Given the description of an element on the screen output the (x, y) to click on. 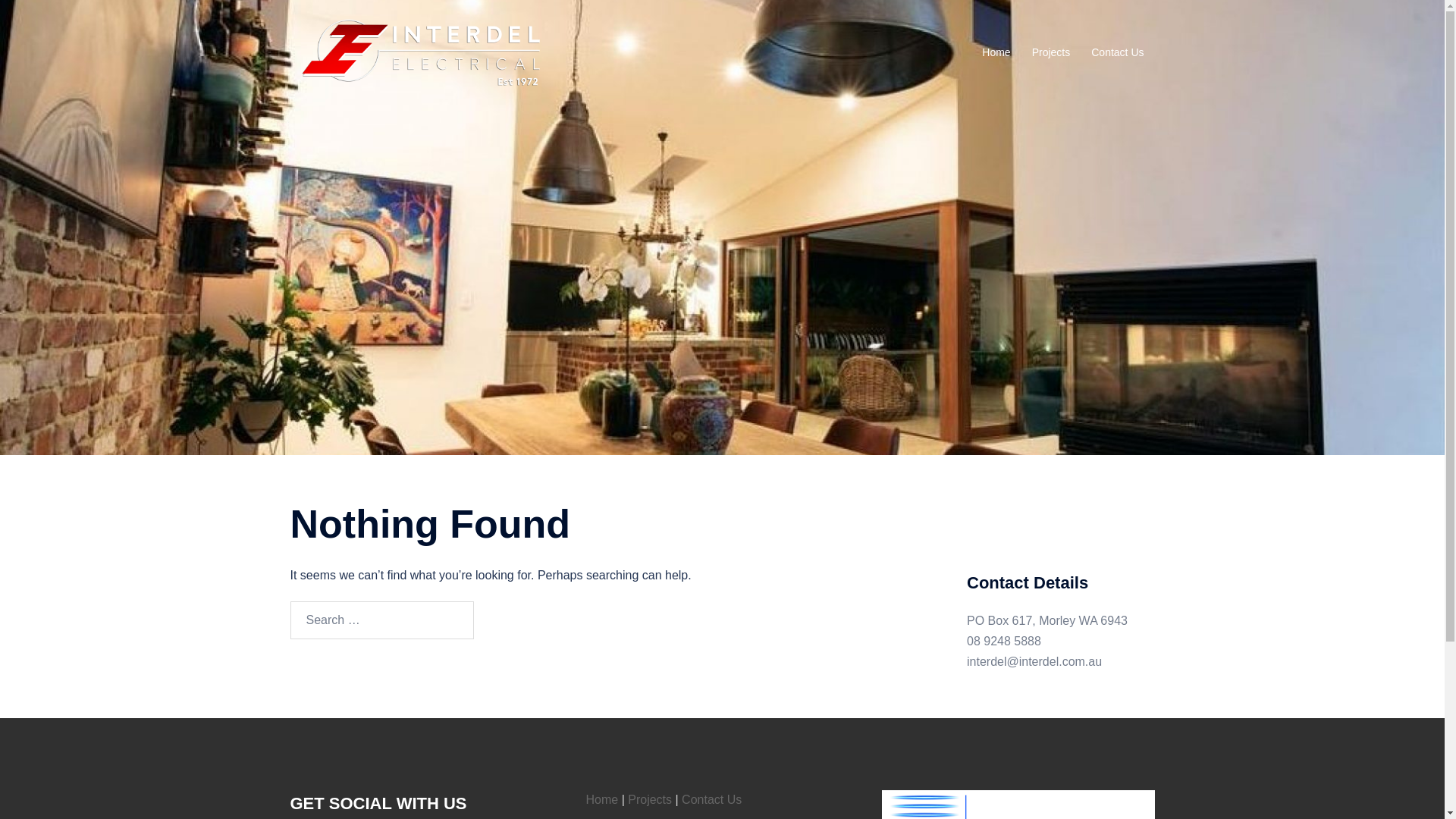
interdel@interdel.com.au Element type: text (1033, 661)
Search Element type: text (525, 620)
Projects Element type: text (649, 799)
Home Element type: text (601, 799)
PO Box 617, Morley WA 6943 Element type: text (1046, 620)
Home Element type: text (996, 52)
Contact Us Element type: text (711, 799)
Contact Us Element type: text (1117, 52)
Interdel Electrical Element type: hover (421, 51)
Projects Element type: text (1051, 52)
